Given the description of an element on the screen output the (x, y) to click on. 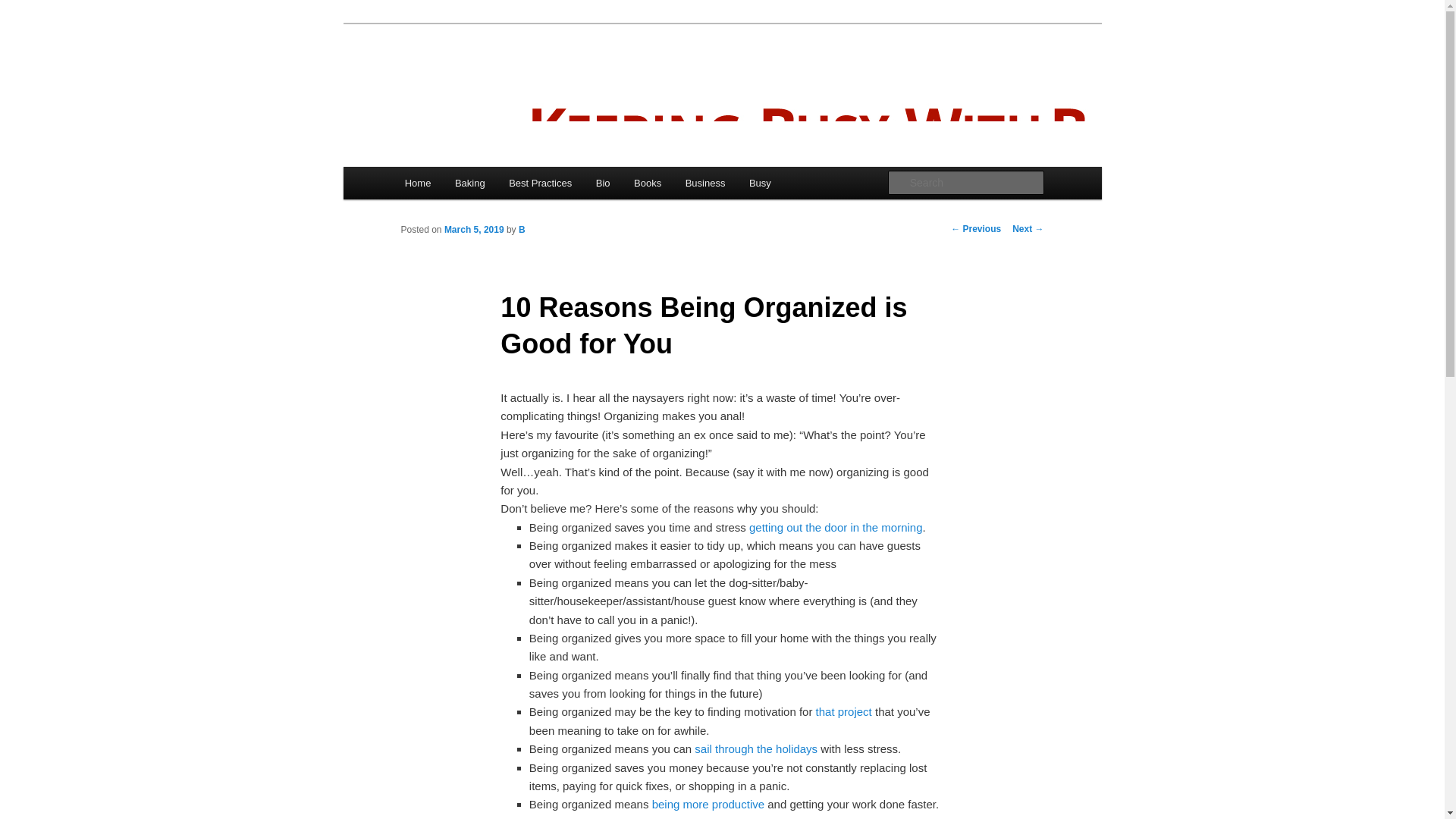
Keeping Busy With B (515, 78)
March 5, 2019 (473, 229)
Busy (759, 183)
Baking (469, 183)
getting out the door in the morning (836, 526)
Home (417, 183)
Bio (602, 183)
being more productive (708, 803)
that project (843, 711)
